Given the description of an element on the screen output the (x, y) to click on. 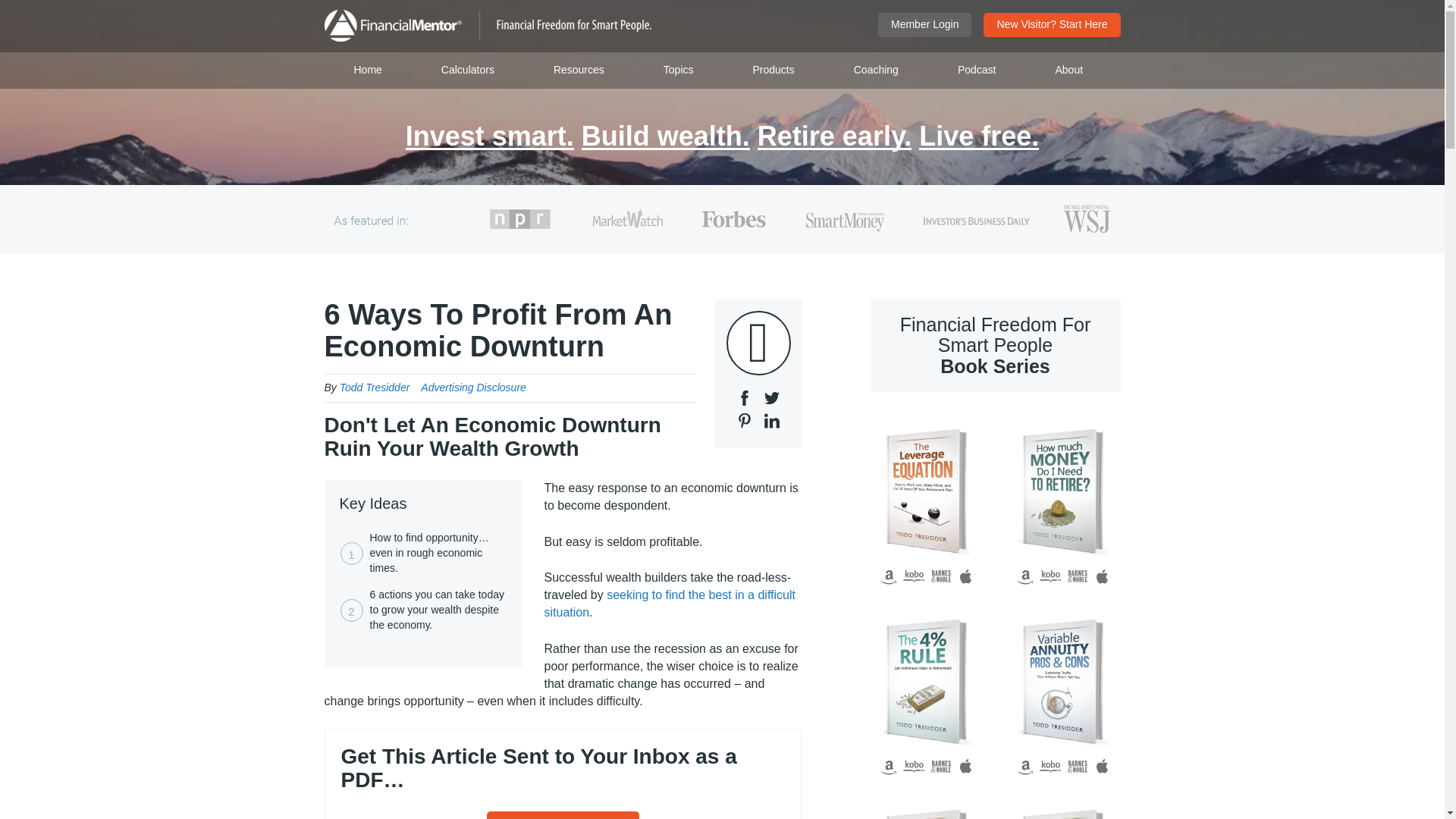
Todd Tresidder (374, 387)
New Visitor? Start Here (1051, 24)
Live free. (978, 137)
Investment Fraud (927, 807)
About Us (1068, 70)
Products (773, 70)
Member Login (924, 24)
Build wealth. (664, 137)
Send Me This Article! (562, 815)
Home (368, 70)
